Given the description of an element on the screen output the (x, y) to click on. 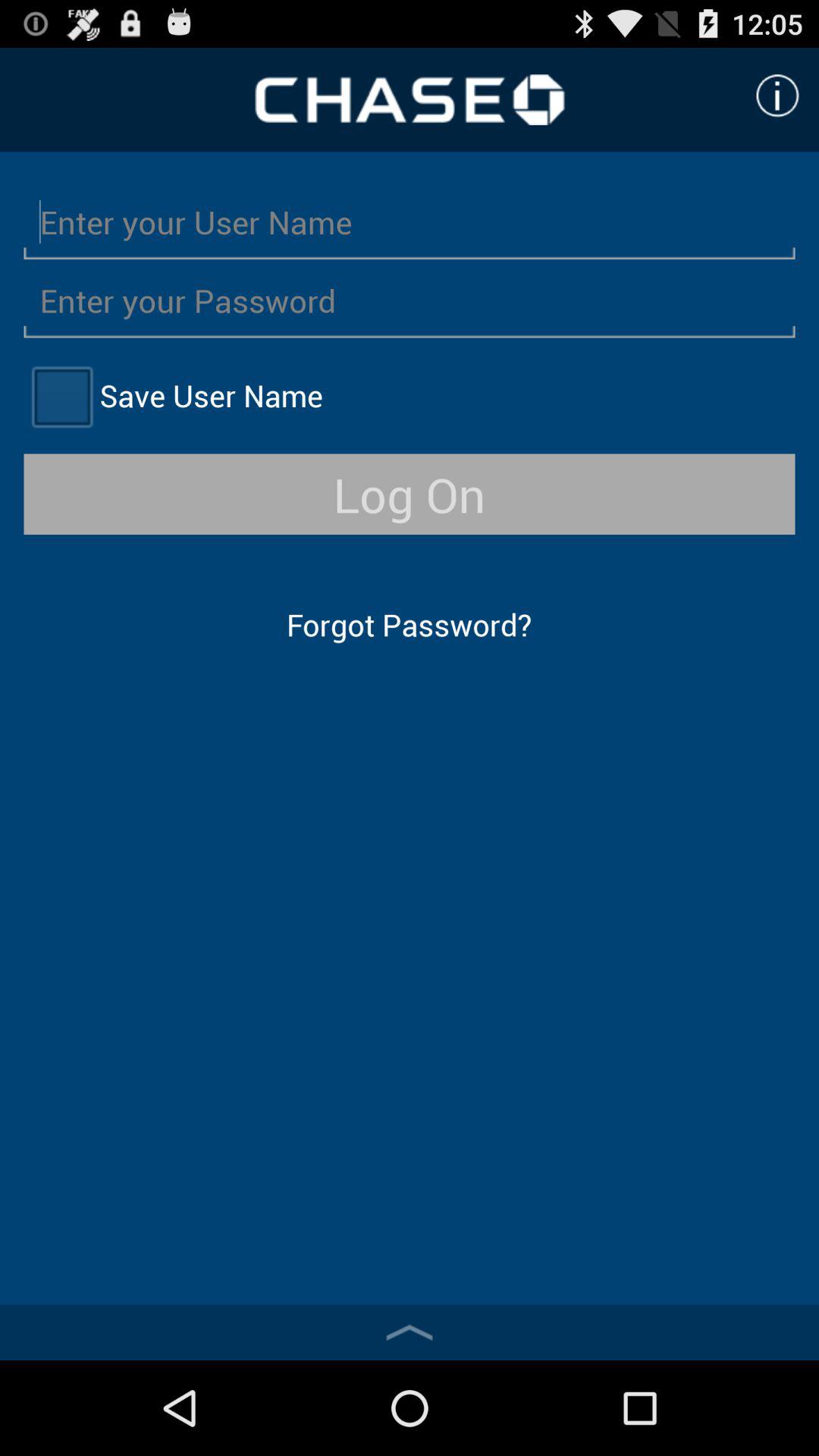
retract page (409, 1332)
